Given the description of an element on the screen output the (x, y) to click on. 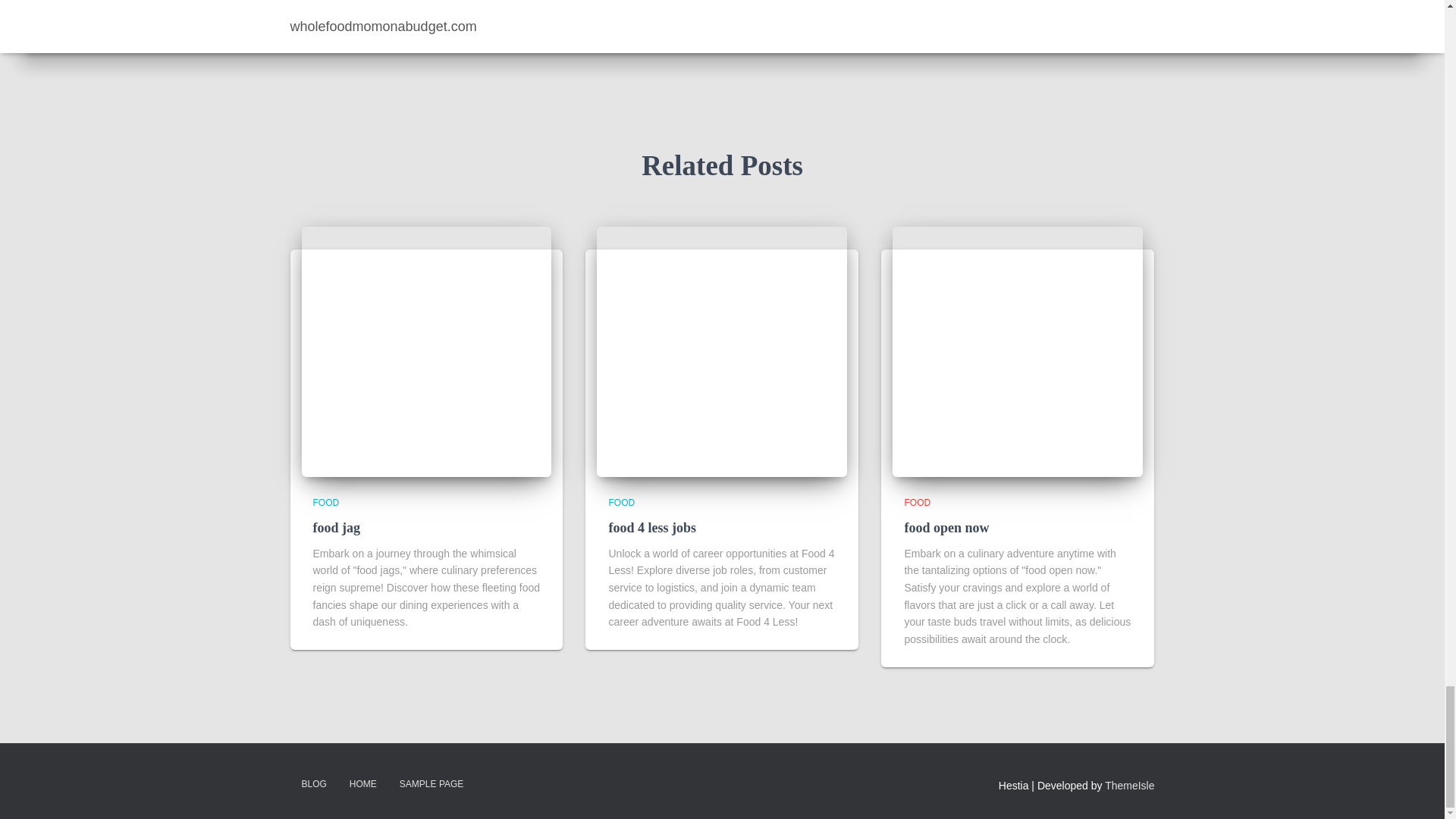
food 4 less jobs (721, 351)
food jag (426, 351)
food jag (336, 527)
food 4 less jobs (651, 527)
food open now (1017, 351)
View all posts in Food (326, 502)
View all posts in Food (621, 502)
